Given the description of an element on the screen output the (x, y) to click on. 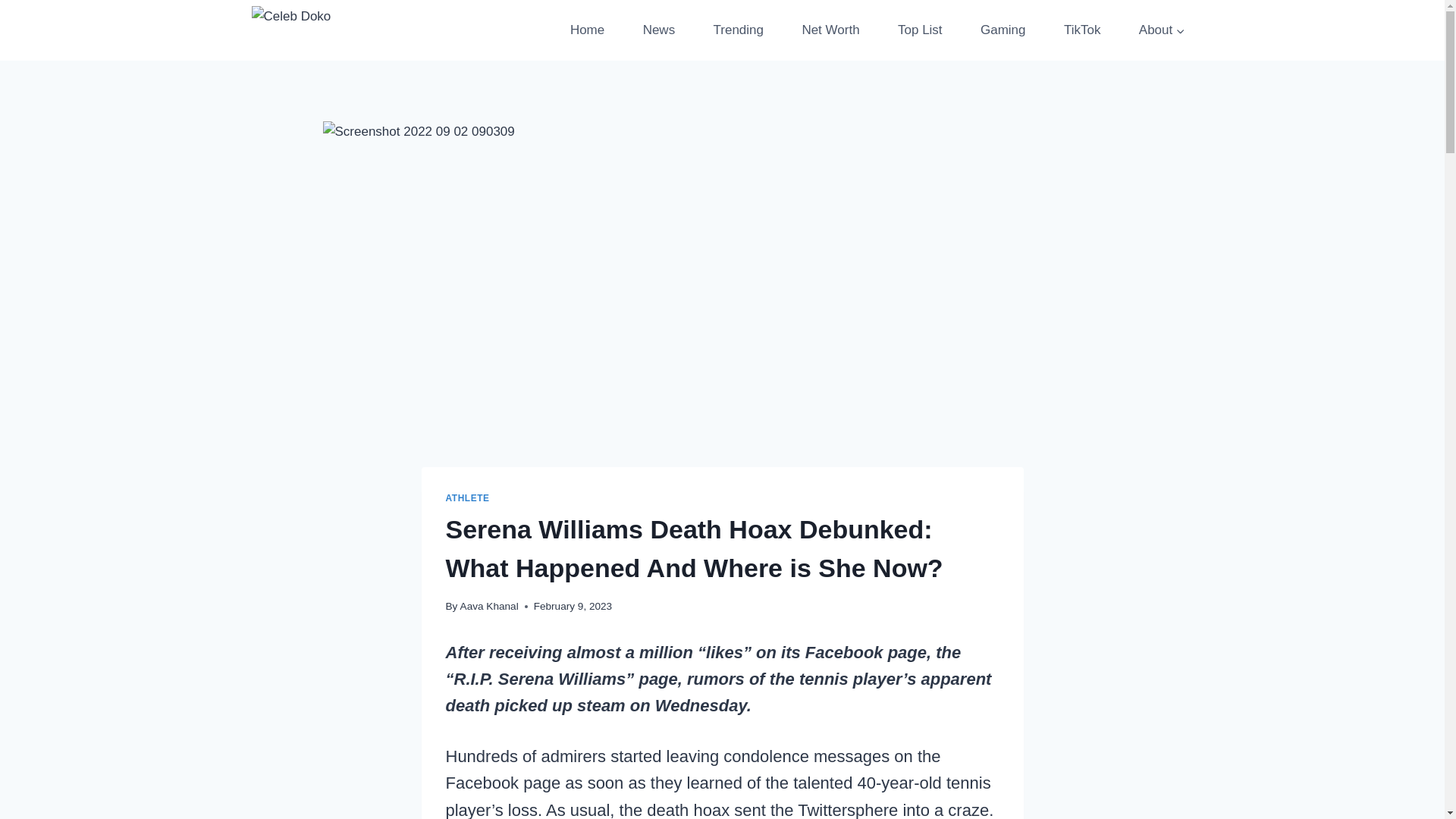
Gaming (1002, 30)
Net Worth (830, 30)
About (1162, 30)
Home (587, 30)
News (658, 30)
TikTok (1082, 30)
ATHLETE (467, 498)
Aava Khanal (489, 605)
Top List (919, 30)
